Given the description of an element on the screen output the (x, y) to click on. 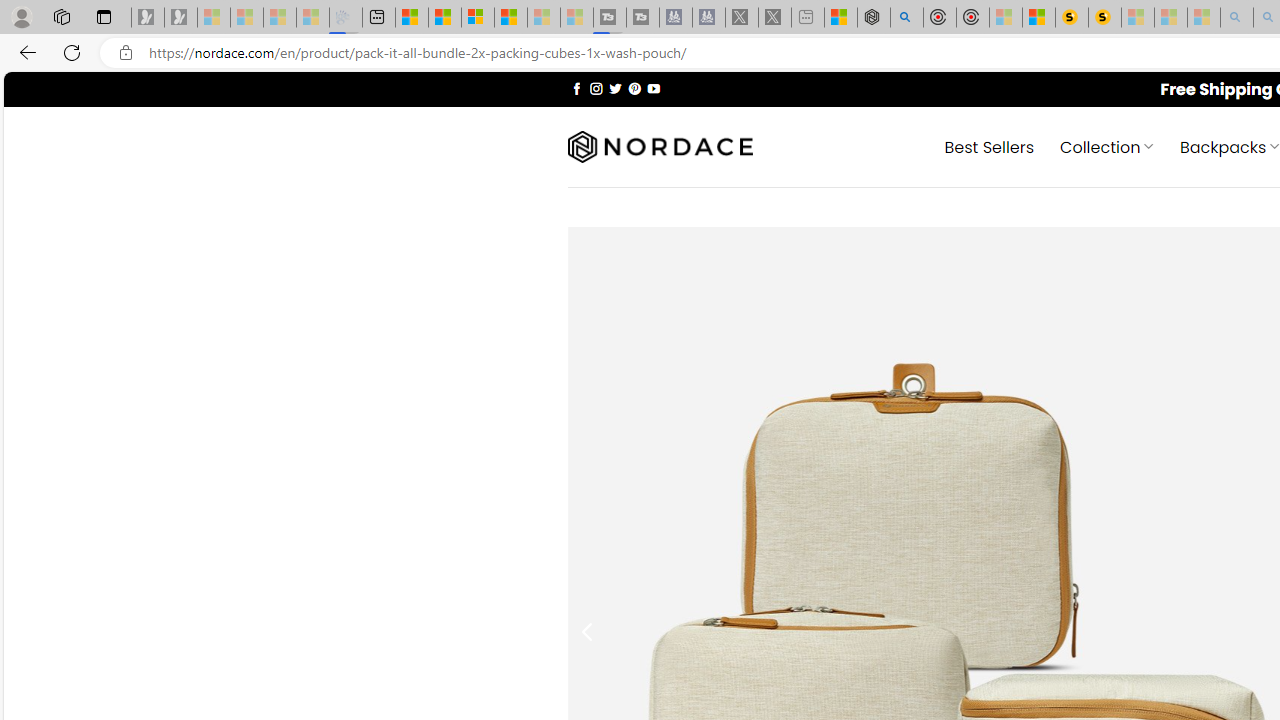
Wildlife - MSN (841, 17)
New tab - Sleeping (808, 17)
Microsoft Start - Sleeping (543, 17)
  Best Sellers (989, 146)
Follow on Instagram (596, 88)
Follow on Twitter (615, 88)
amazon - Search - Sleeping (1237, 17)
Nordace - Summer Adventures 2024 (873, 17)
Follow on YouTube (653, 88)
